Given the description of an element on the screen output the (x, y) to click on. 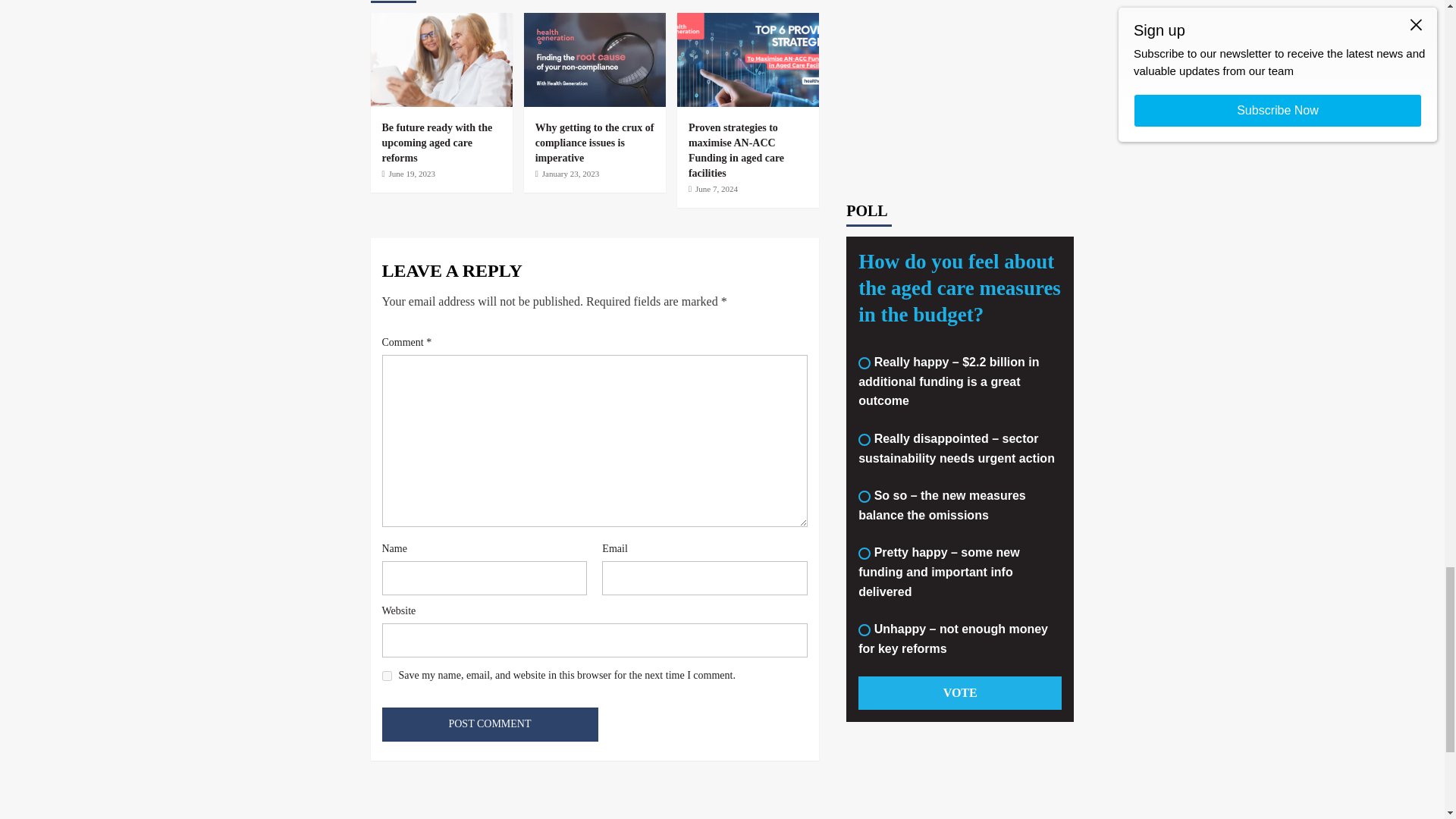
   Vote    (960, 56)
yes (386, 675)
Post Comment (489, 724)
